Given the description of an element on the screen output the (x, y) to click on. 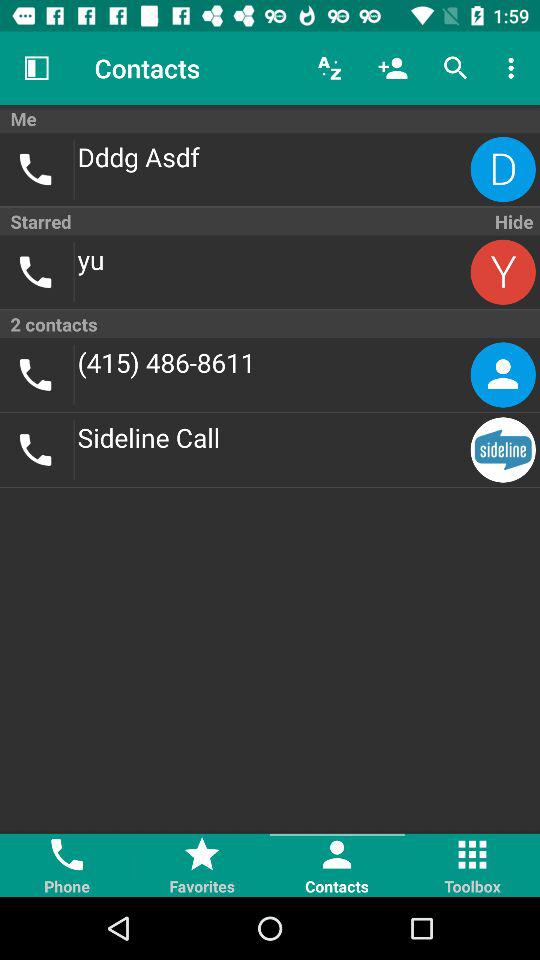
tap the icon above the me item (36, 68)
